Given the description of an element on the screen output the (x, y) to click on. 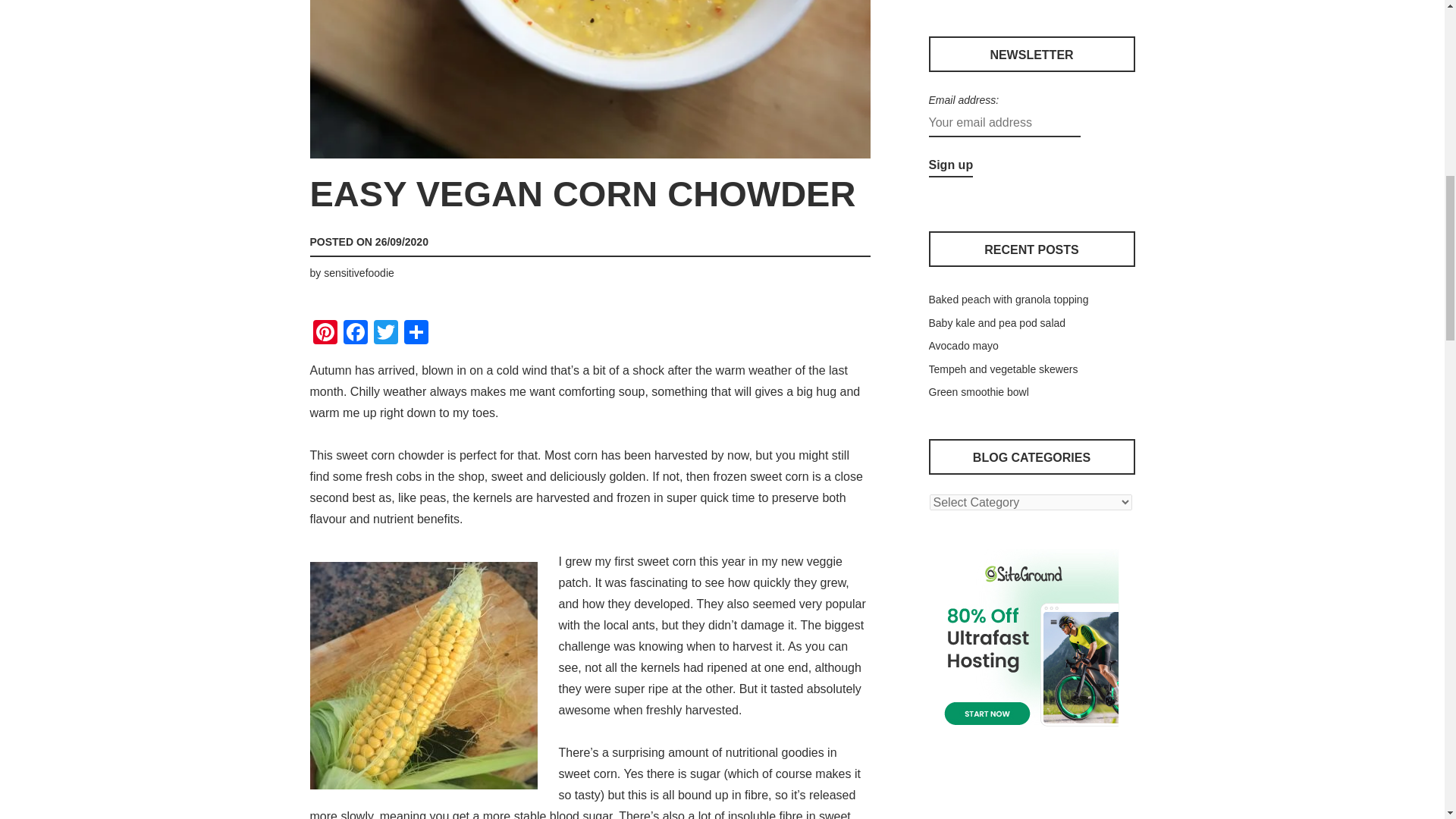
sensitivefoodie (358, 272)
Pinterest (323, 334)
Pinterest (323, 334)
Twitter (384, 334)
Sign up (950, 165)
Facebook (354, 334)
Twitter (384, 334)
Facebook (354, 334)
Share (415, 334)
